Given the description of an element on the screen output the (x, y) to click on. 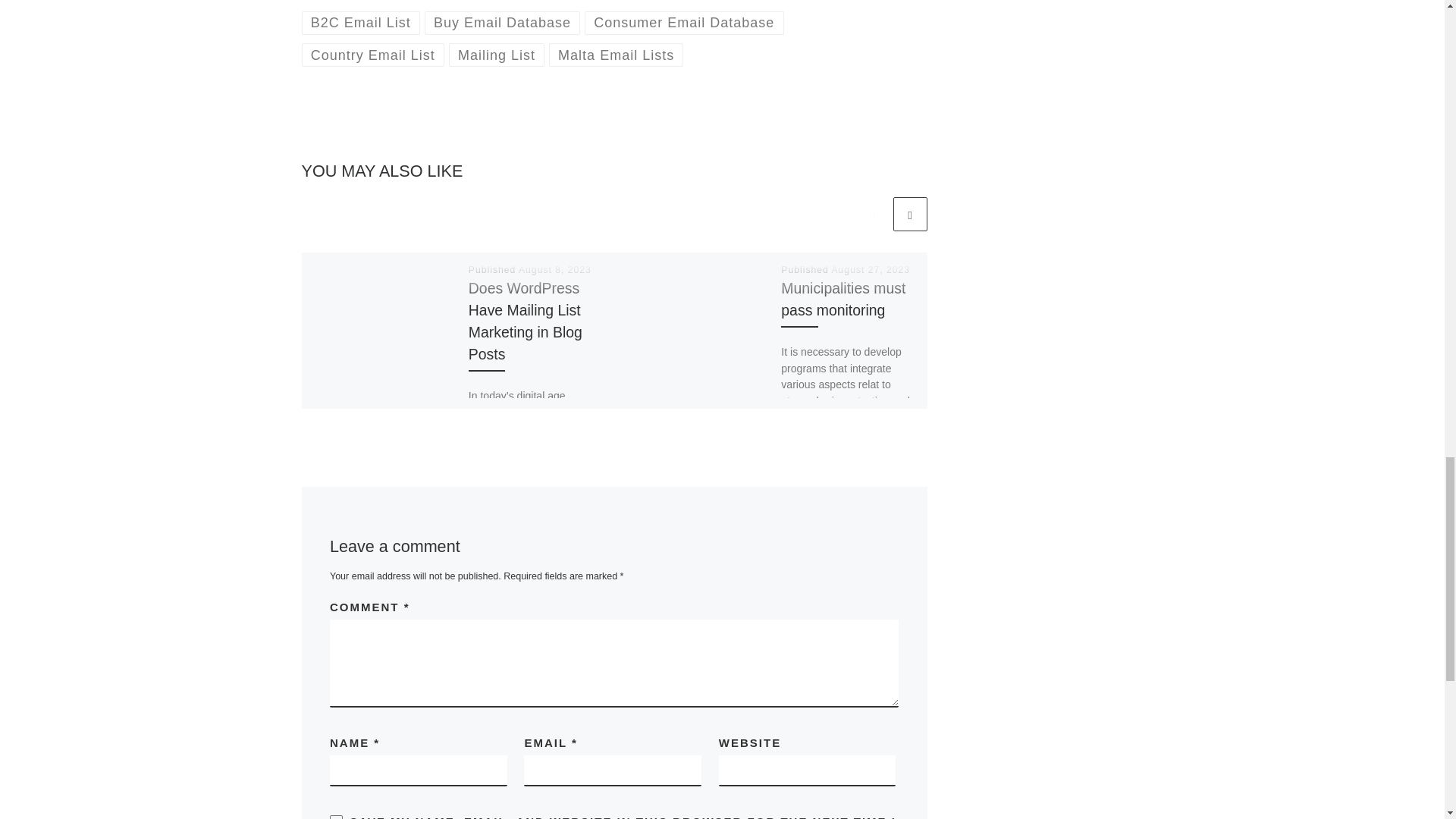
Previous related articles (872, 213)
Buy Email Database (502, 22)
Country Email List (373, 54)
B2C Email List (360, 22)
yes (336, 816)
View all posts in B2C Email List (360, 22)
View all posts in Malta Email Lists (616, 54)
August 27, 2023 (870, 269)
View all posts in Buy Email Database (502, 22)
View all posts in Mailing List (496, 54)
